Given the description of an element on the screen output the (x, y) to click on. 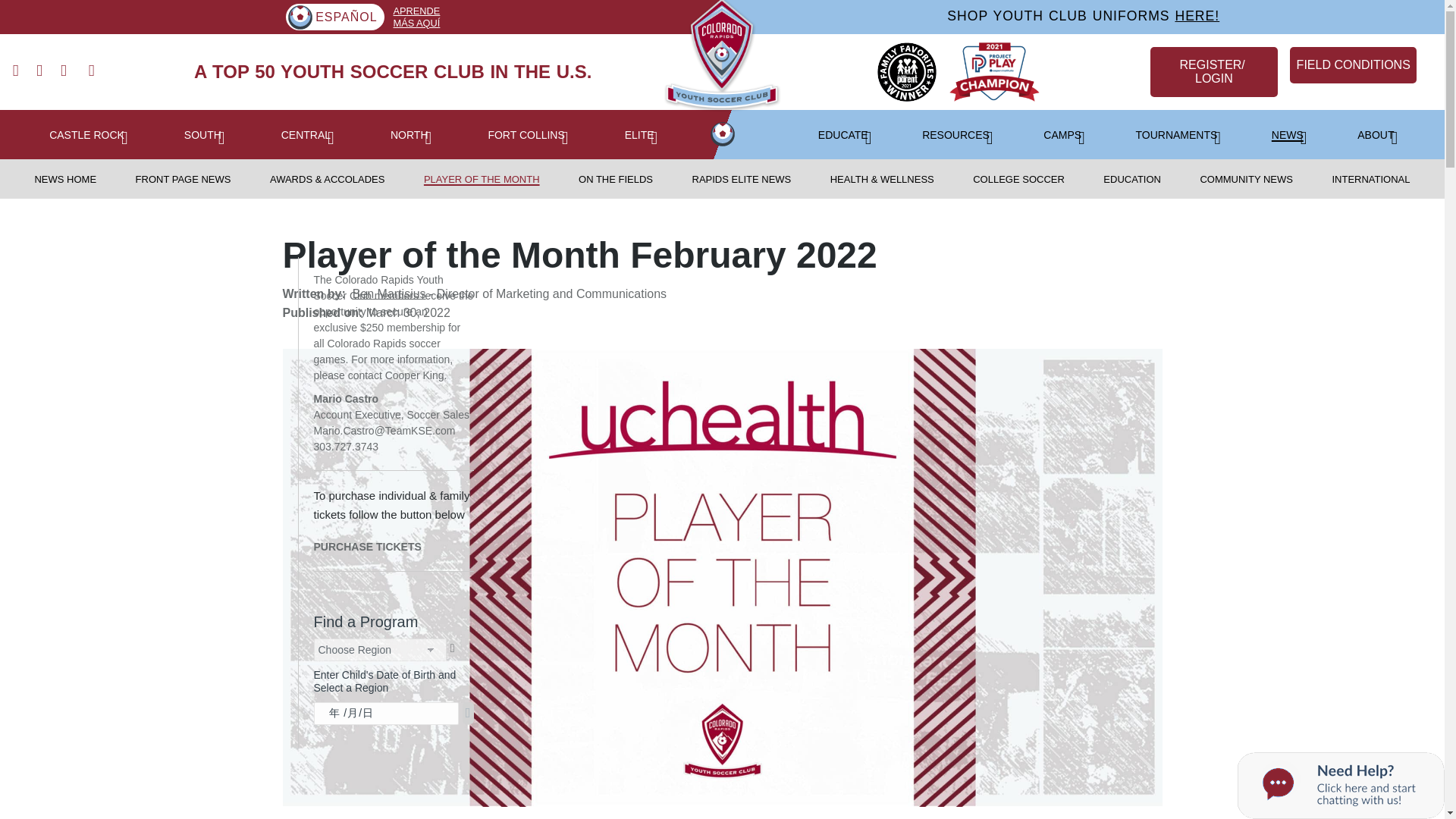
HERE! (1197, 15)
APRENDE (416, 10)
